Given the description of an element on the screen output the (x, y) to click on. 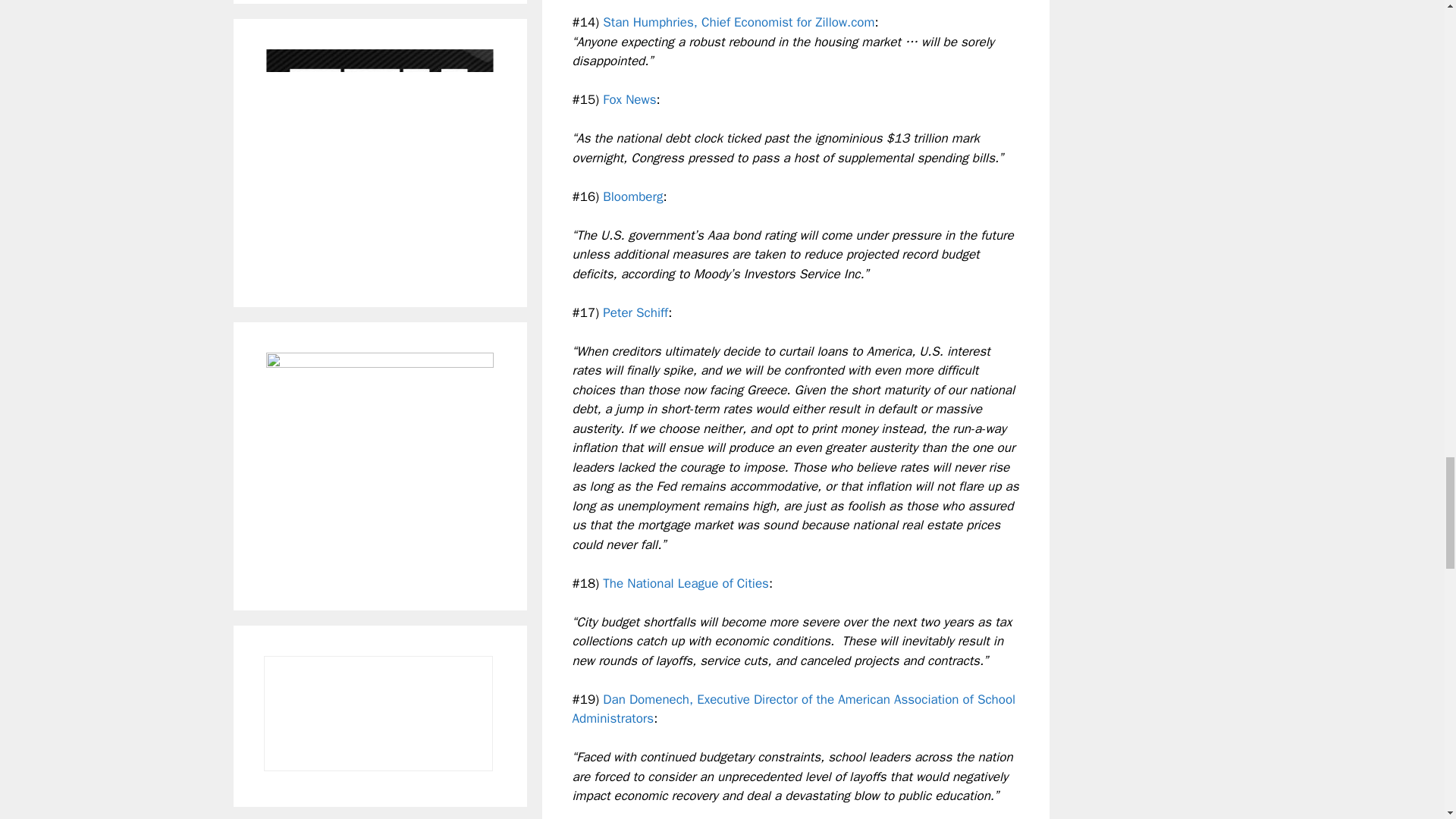
The National League of Cities (685, 583)
Stan Humphries, Chief Economist for Zillow.com (738, 22)
Bloomberg (632, 196)
Fox News (629, 99)
Peter Schiff (635, 312)
